Given the description of an element on the screen output the (x, y) to click on. 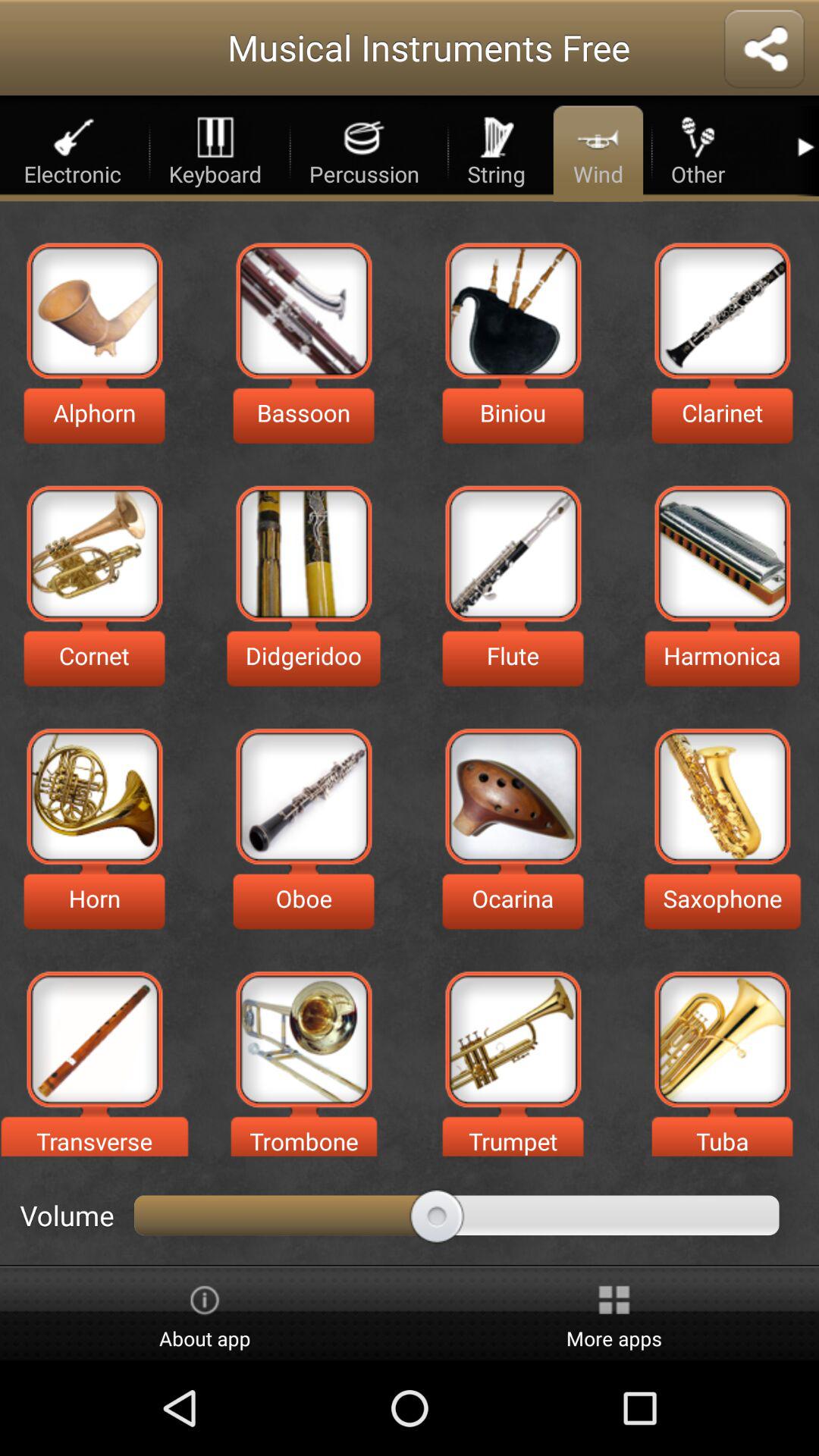
plays alphorn music (94, 310)
